Given the description of an element on the screen output the (x, y) to click on. 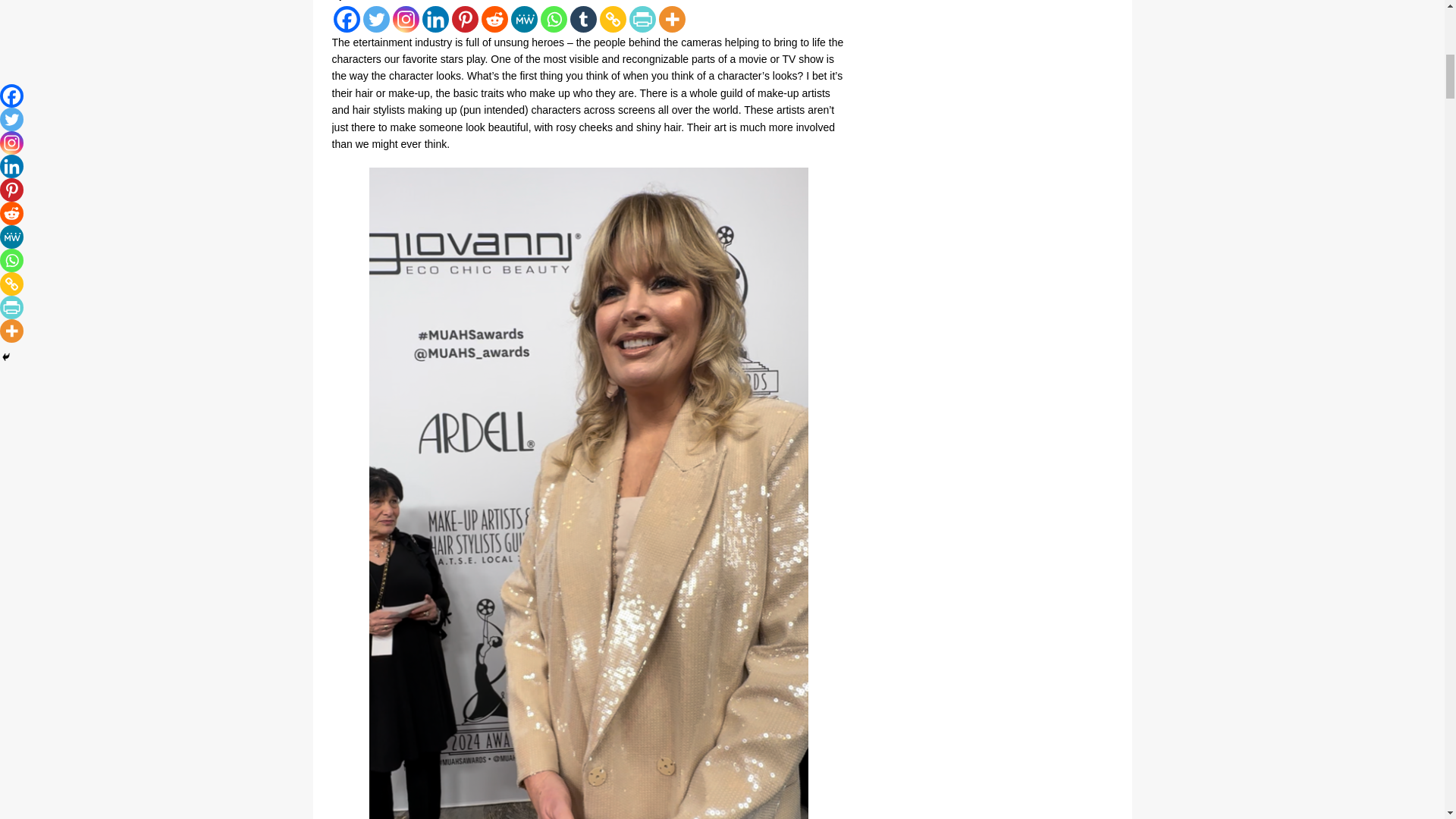
Pinterest (465, 18)
Instagram (406, 18)
Linkedin (435, 18)
MeWe (524, 18)
Facebook (346, 18)
Reddit (493, 18)
Twitter (375, 18)
Copy Link (612, 18)
Whatsapp (553, 18)
PrintFriendly (642, 18)
More (671, 18)
Tumblr (583, 18)
